Given the description of an element on the screen output the (x, y) to click on. 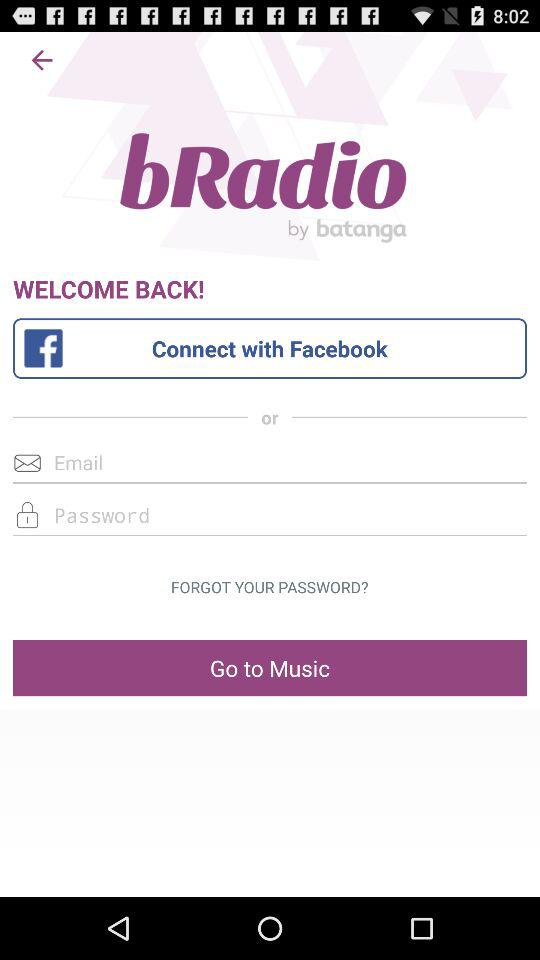
log in with facebook (269, 348)
